Given the description of an element on the screen output the (x, y) to click on. 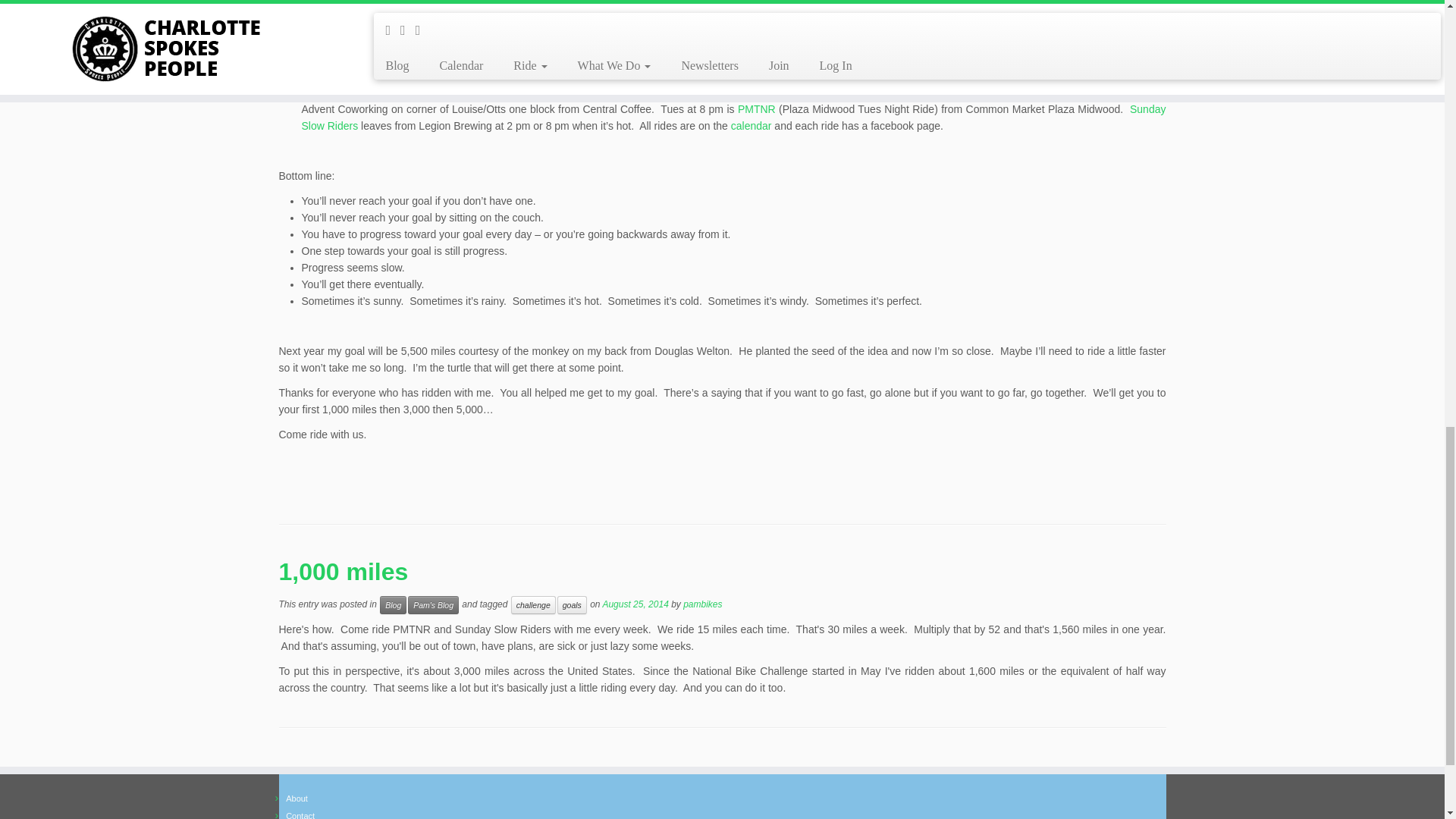
Blog (393, 605)
PMTNR (757, 109)
Sunday Slow Riders (733, 117)
1,000 miles (344, 571)
goals (571, 605)
Pam's Blog (432, 605)
calendar (749, 125)
View all posts in Blog (393, 605)
challenge (533, 605)
